Given the description of an element on the screen output the (x, y) to click on. 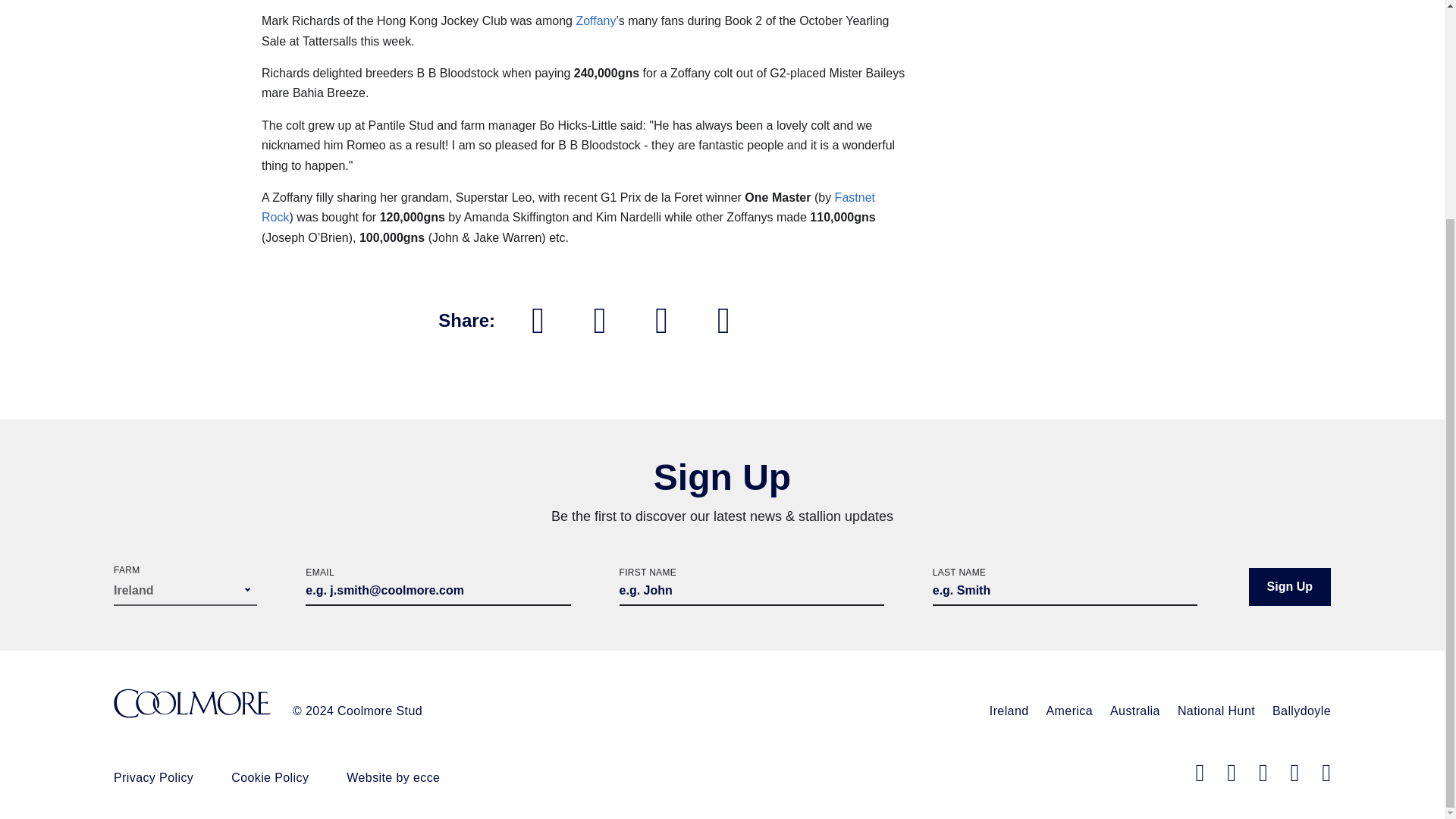
Fastnet Rock (568, 206)
Australia (1134, 710)
Coolmore (191, 704)
America (1069, 710)
Privacy Policy (153, 777)
Ballydoyle (1301, 710)
National Hunt (1216, 710)
Ireland (1009, 710)
Website by ecce (392, 777)
Cookie Policy (269, 777)
Zoffany (595, 20)
Sign Up (1289, 587)
